Given the description of an element on the screen output the (x, y) to click on. 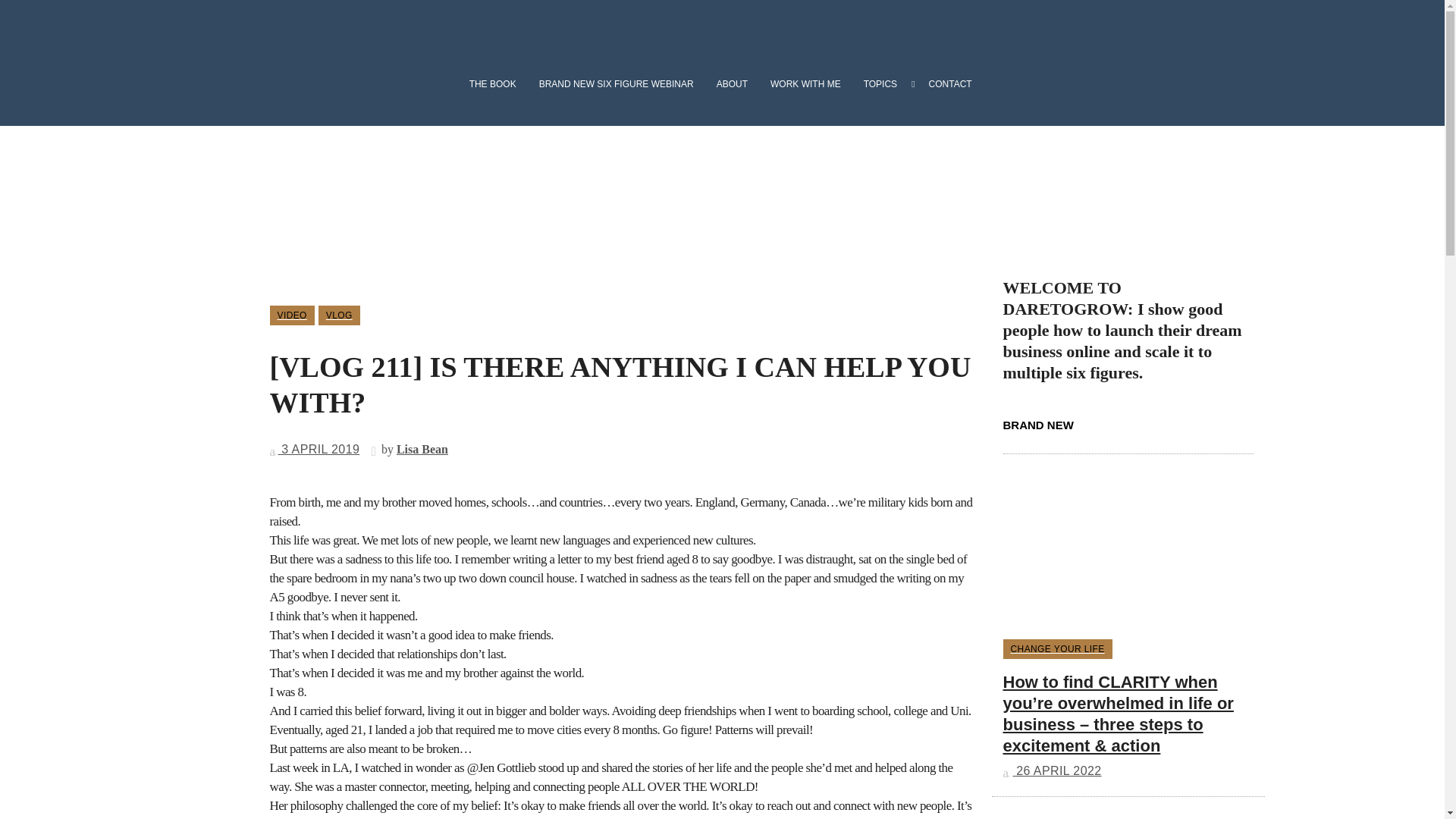
BRAND NEW SIX FIGURE WEBINAR (615, 84)
CONTACT (946, 84)
WORK WITH ME (804, 84)
